Given the description of an element on the screen output the (x, y) to click on. 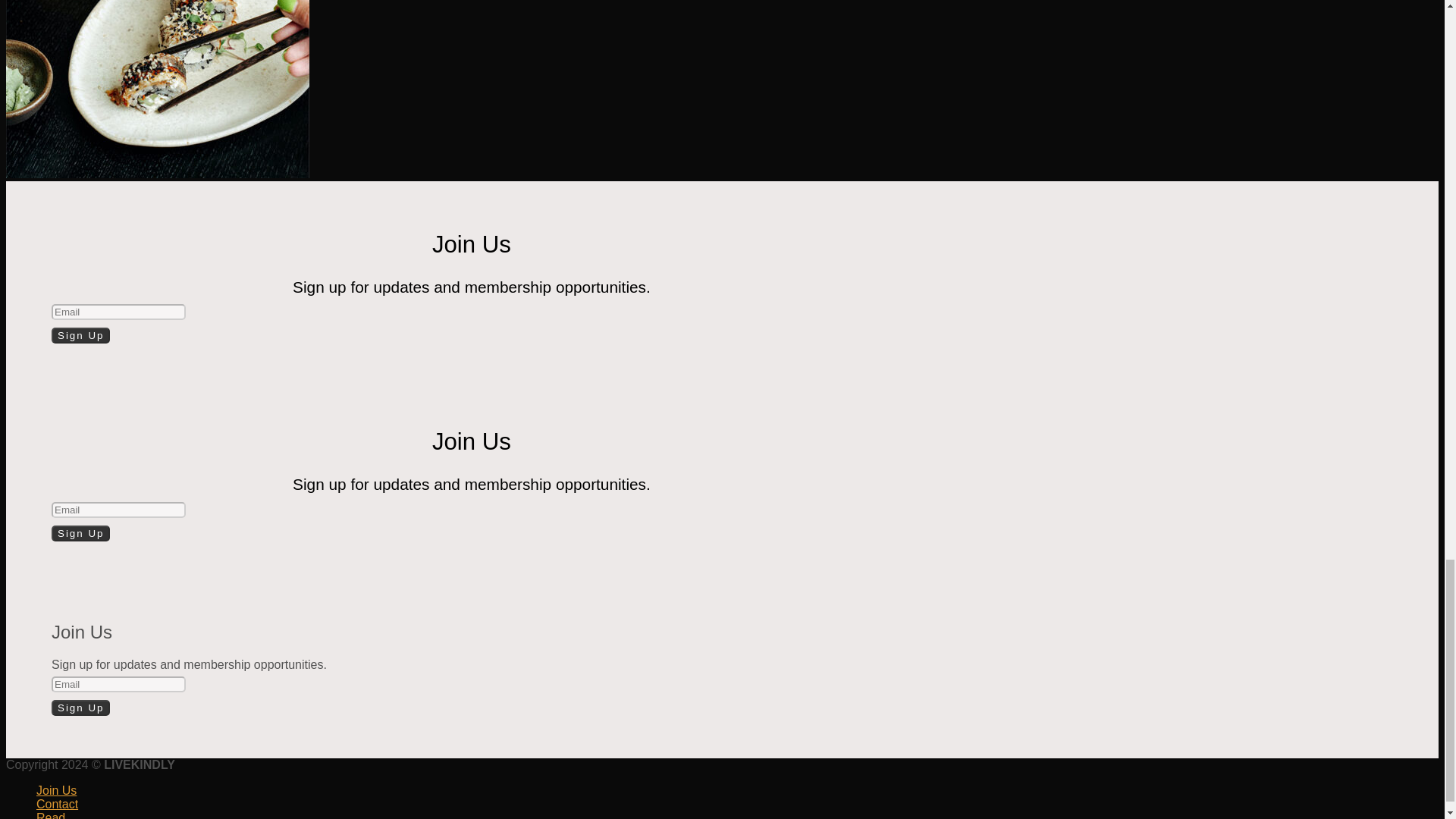
Join Us (56, 789)
Sign Up (80, 707)
Sign Up (80, 533)
Contact (57, 803)
Sign Up (80, 335)
